Given the description of an element on the screen output the (x, y) to click on. 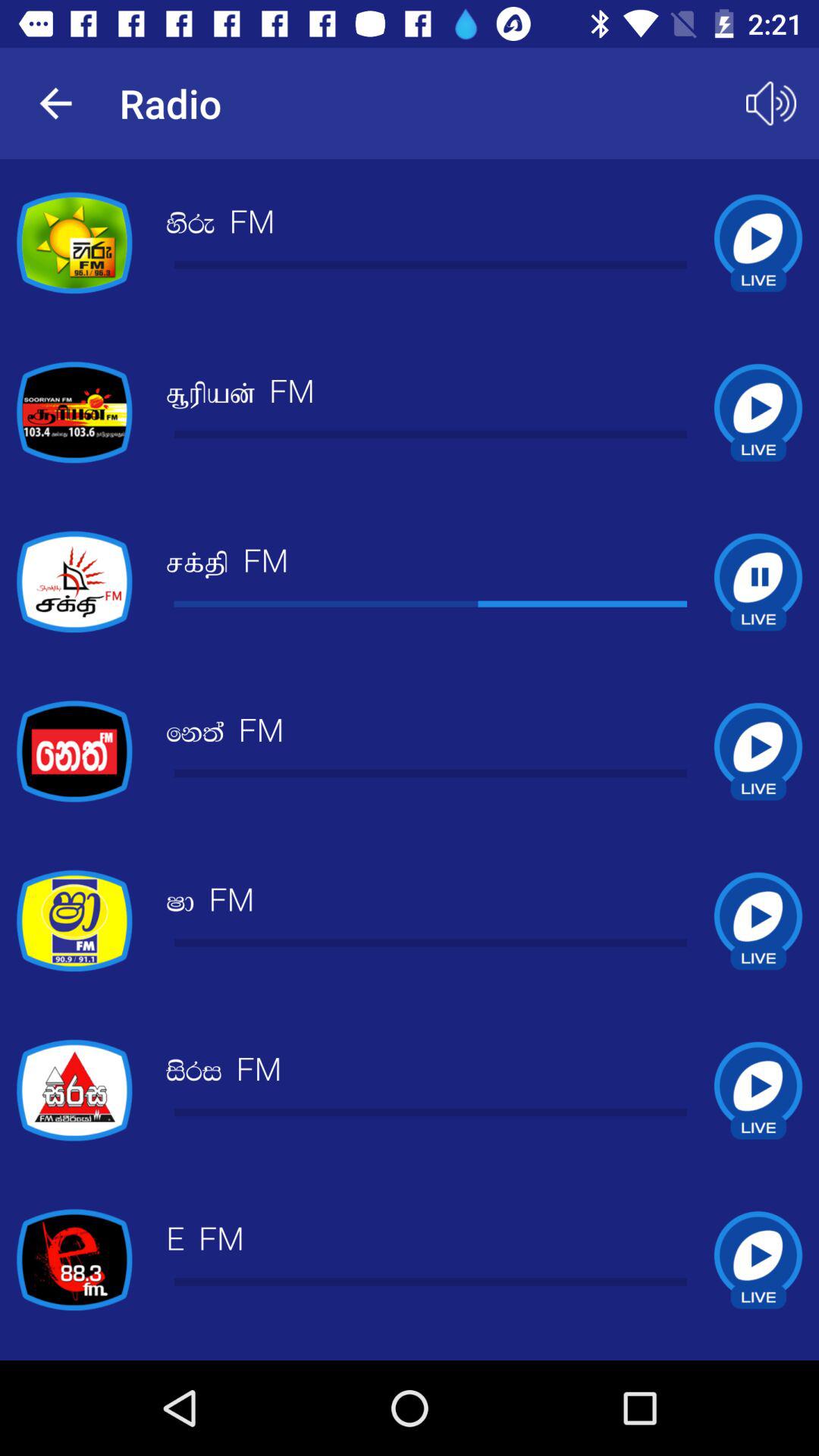
click item to the right of radio icon (771, 103)
